Given the description of an element on the screen output the (x, y) to click on. 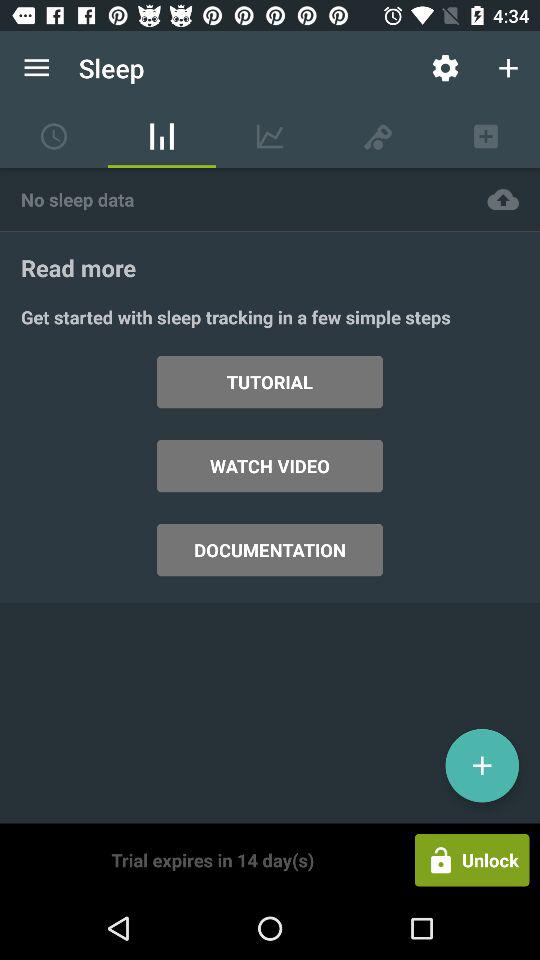
choose icon above the read more (233, 198)
